Given the description of an element on the screen output the (x, y) to click on. 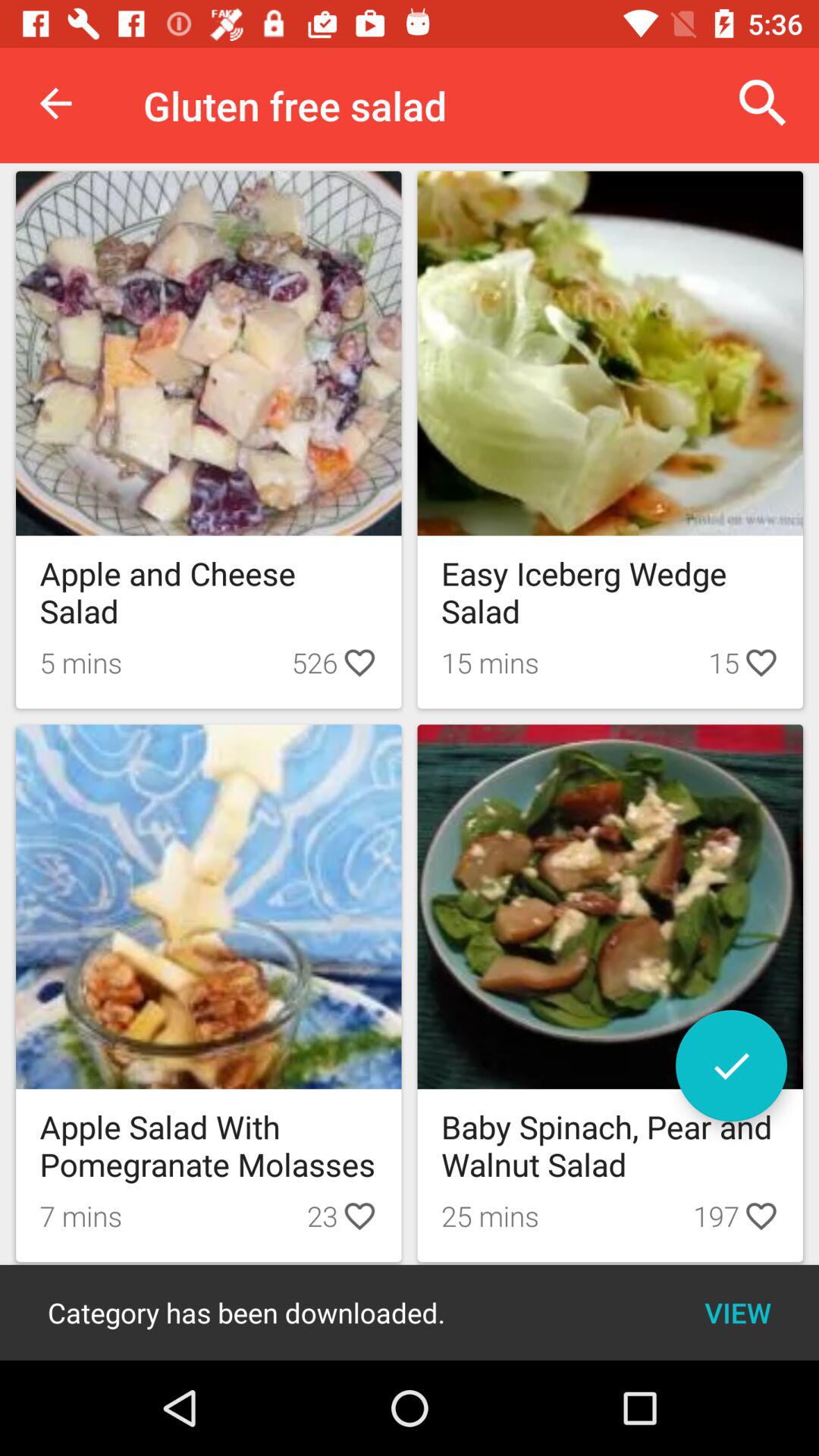
add to favorites (731, 1065)
